Given the description of an element on the screen output the (x, y) to click on. 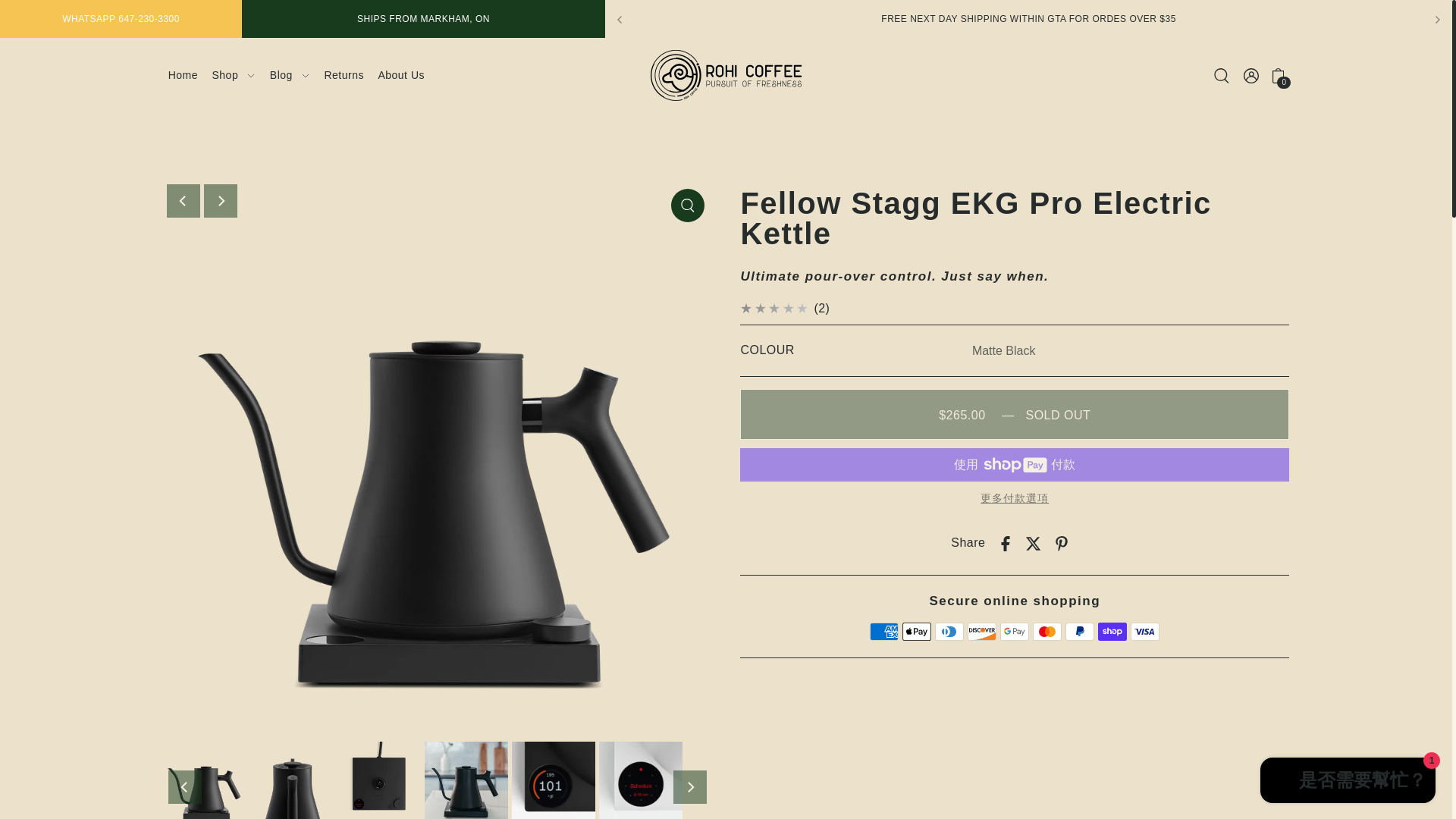
click to zoom-in (687, 204)
Diners Club (948, 631)
Home (183, 75)
Returns (343, 75)
American Express (883, 631)
Apple Pay (916, 631)
Shop (233, 75)
About Us (400, 75)
Blog (289, 75)
